Given the description of an element on the screen output the (x, y) to click on. 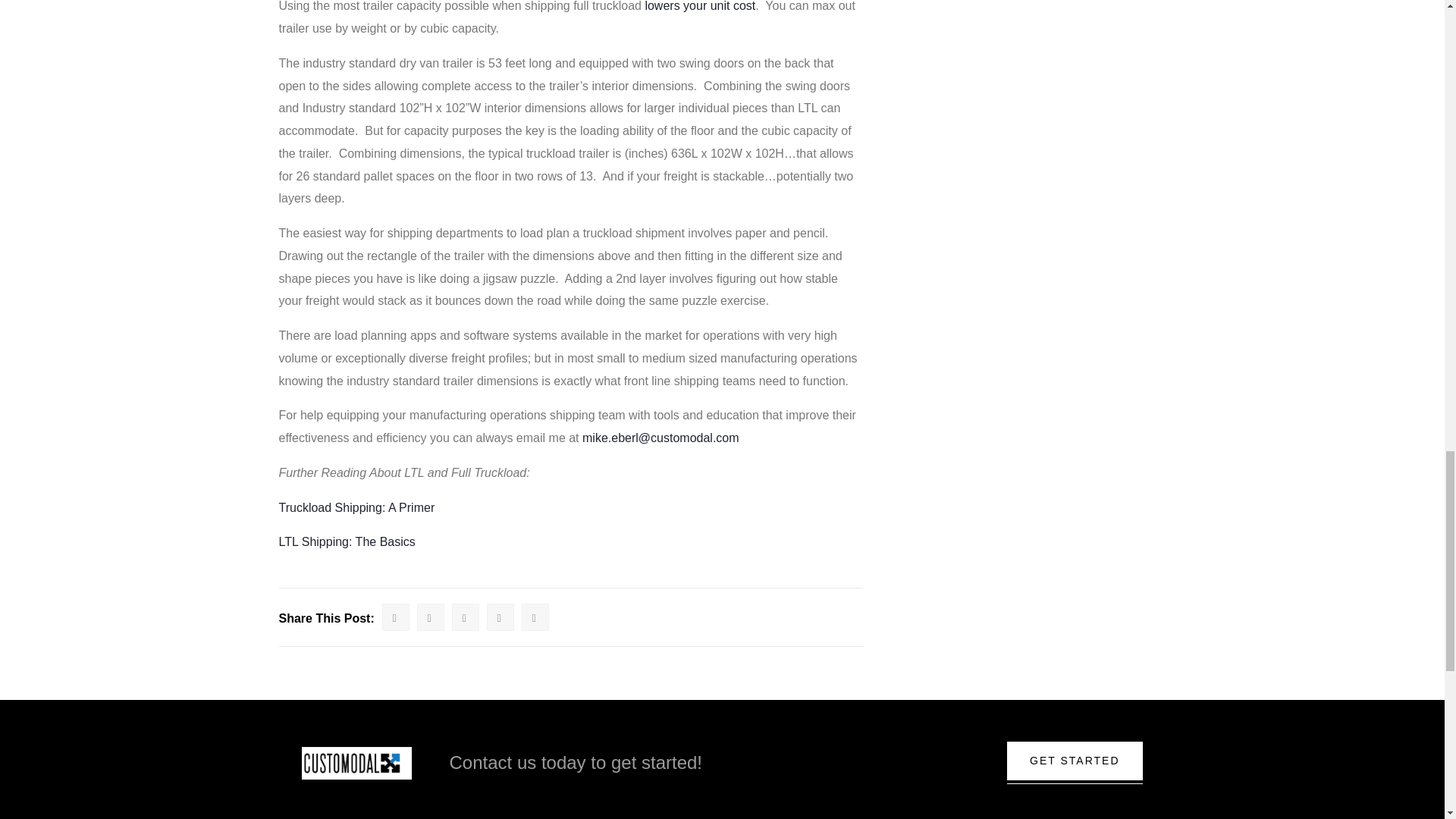
Home (356, 762)
